Given the description of an element on the screen output the (x, y) to click on. 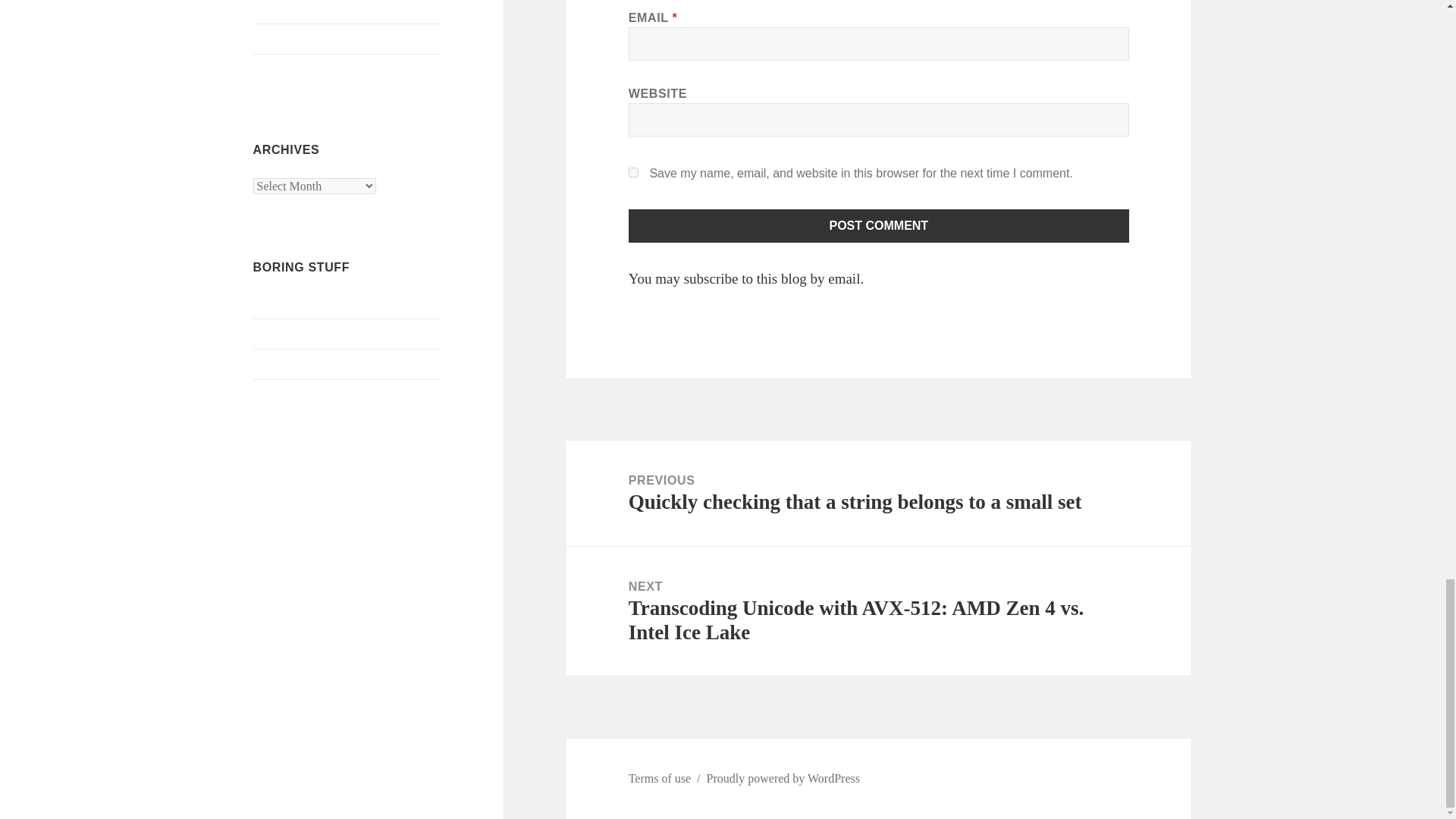
Post Comment (878, 225)
Log in (269, 303)
Recommended video games (321, 8)
Terms of use (284, 38)
Write good papers (297, 69)
yes (633, 172)
